Given the description of an element on the screen output the (x, y) to click on. 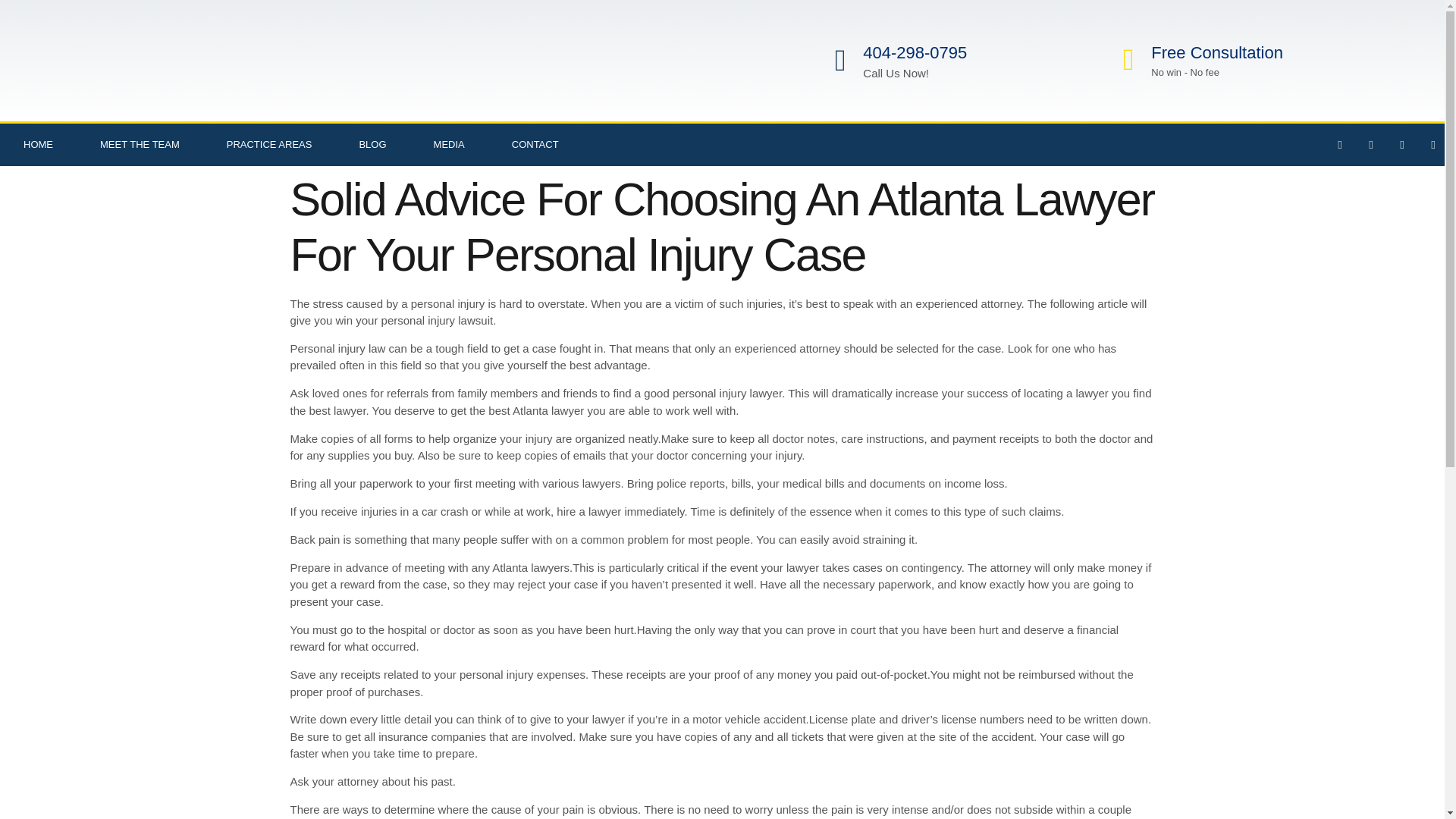
HOME (38, 144)
PRACTICE AREAS (269, 144)
CONTACT (534, 144)
MEET THE TEAM (140, 144)
404-298-0795 (914, 52)
BLOG (371, 144)
Free Consultation (1216, 52)
MEDIA (448, 144)
